Given the description of an element on the screen output the (x, y) to click on. 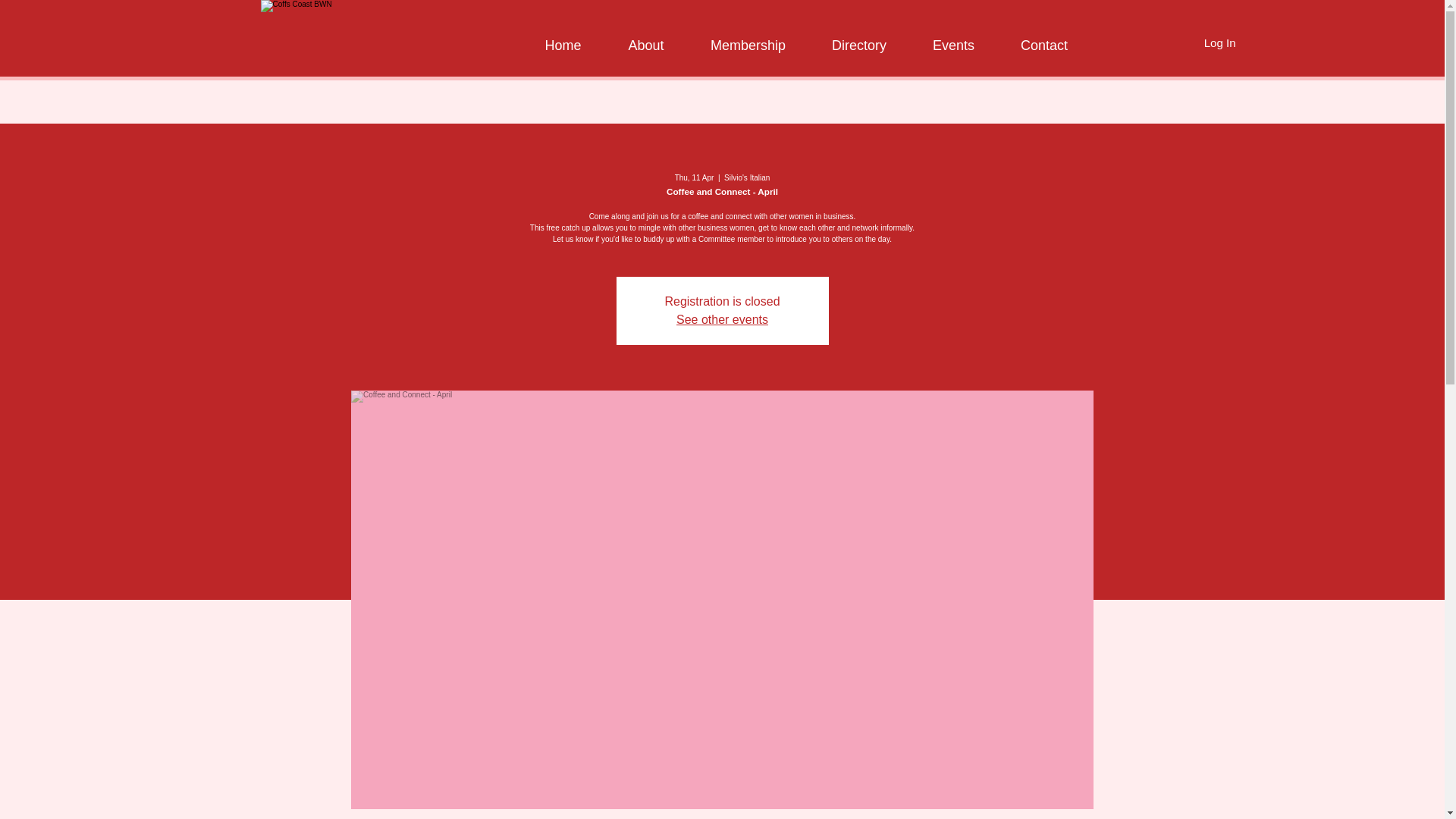
Log In (1219, 42)
Contact (1041, 38)
Home (561, 38)
Events (950, 38)
See other events (722, 318)
Directory (858, 38)
